Given the description of an element on the screen output the (x, y) to click on. 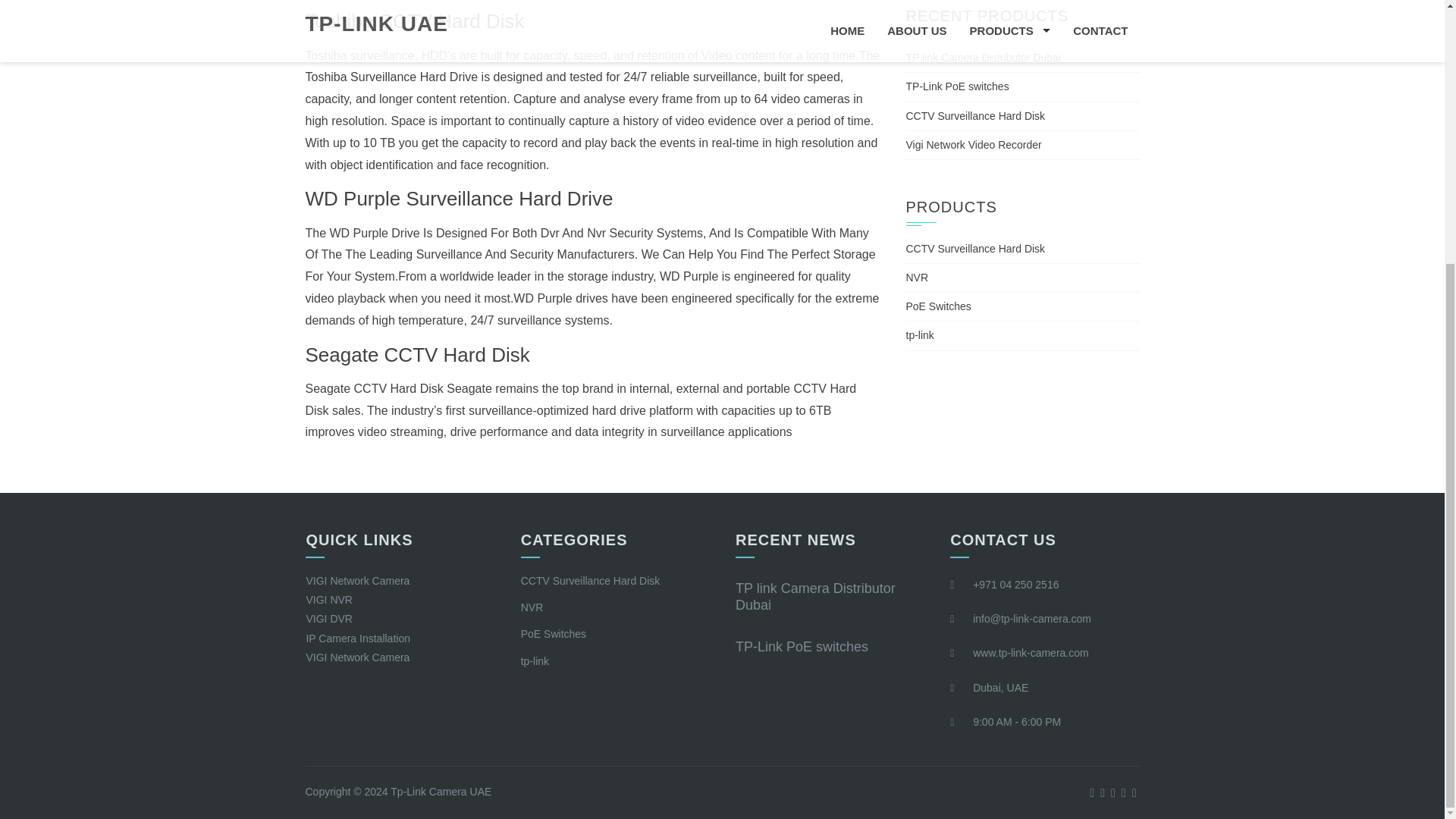
TP link Camera Distributor Dubai (815, 596)
Vigi Network Video Recorder (973, 144)
TP-Link PoE switches (957, 86)
PoE Switches (938, 306)
NVR (532, 607)
PoE Switches (553, 633)
NVR (916, 277)
VIGI NVR (328, 599)
tp-link (919, 335)
tp-link (534, 661)
VIGI Network Camera (357, 580)
VIGI DVR (328, 618)
CCTV Surveillance Hard Disk (975, 115)
CCTV Surveillance Hard Disk (591, 580)
CCTV Surveillance Hard Disk (975, 248)
